Given the description of an element on the screen output the (x, y) to click on. 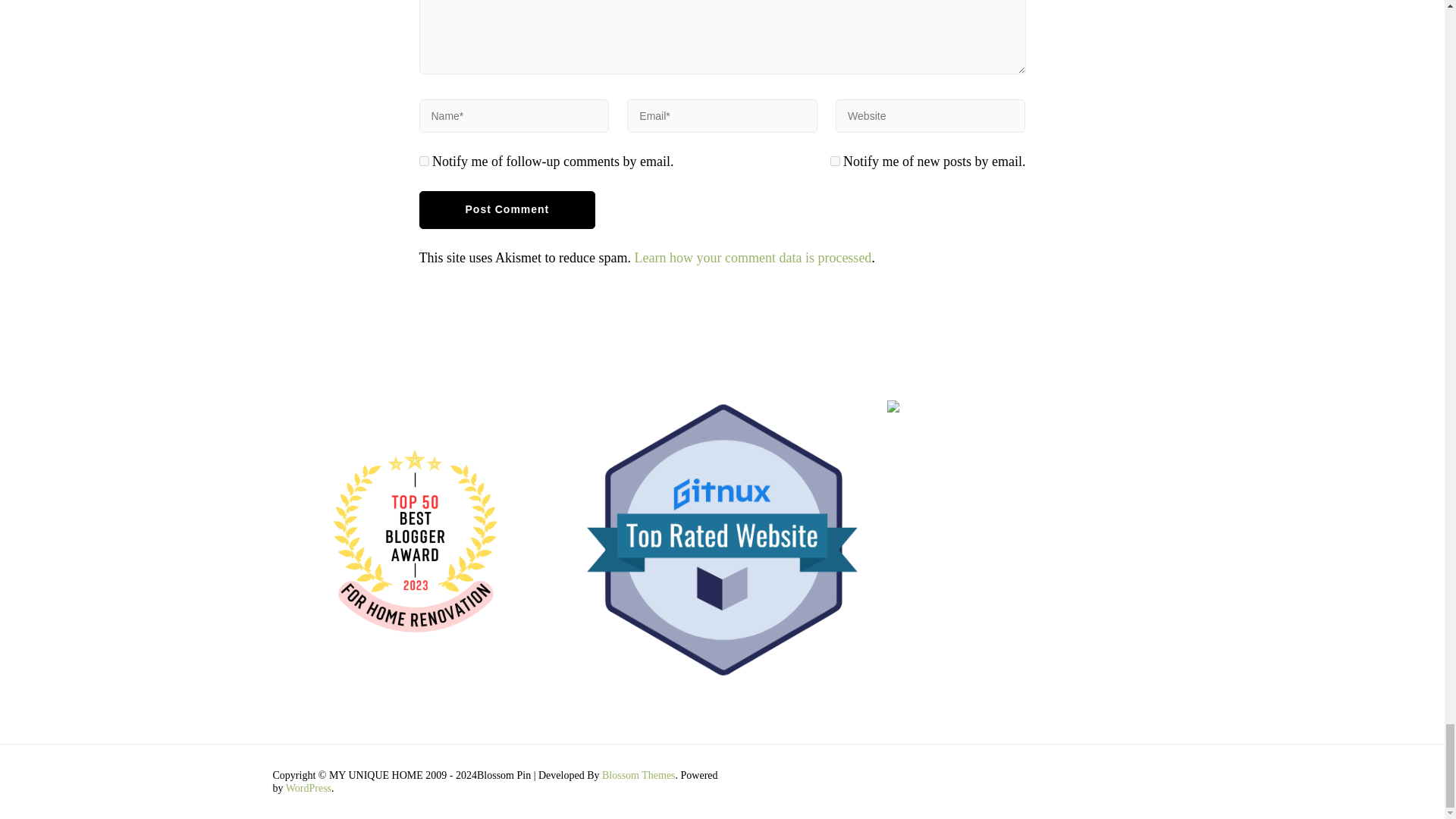
subscribe (834, 161)
subscribe (423, 161)
Post Comment (507, 209)
